Given the description of an element on the screen output the (x, y) to click on. 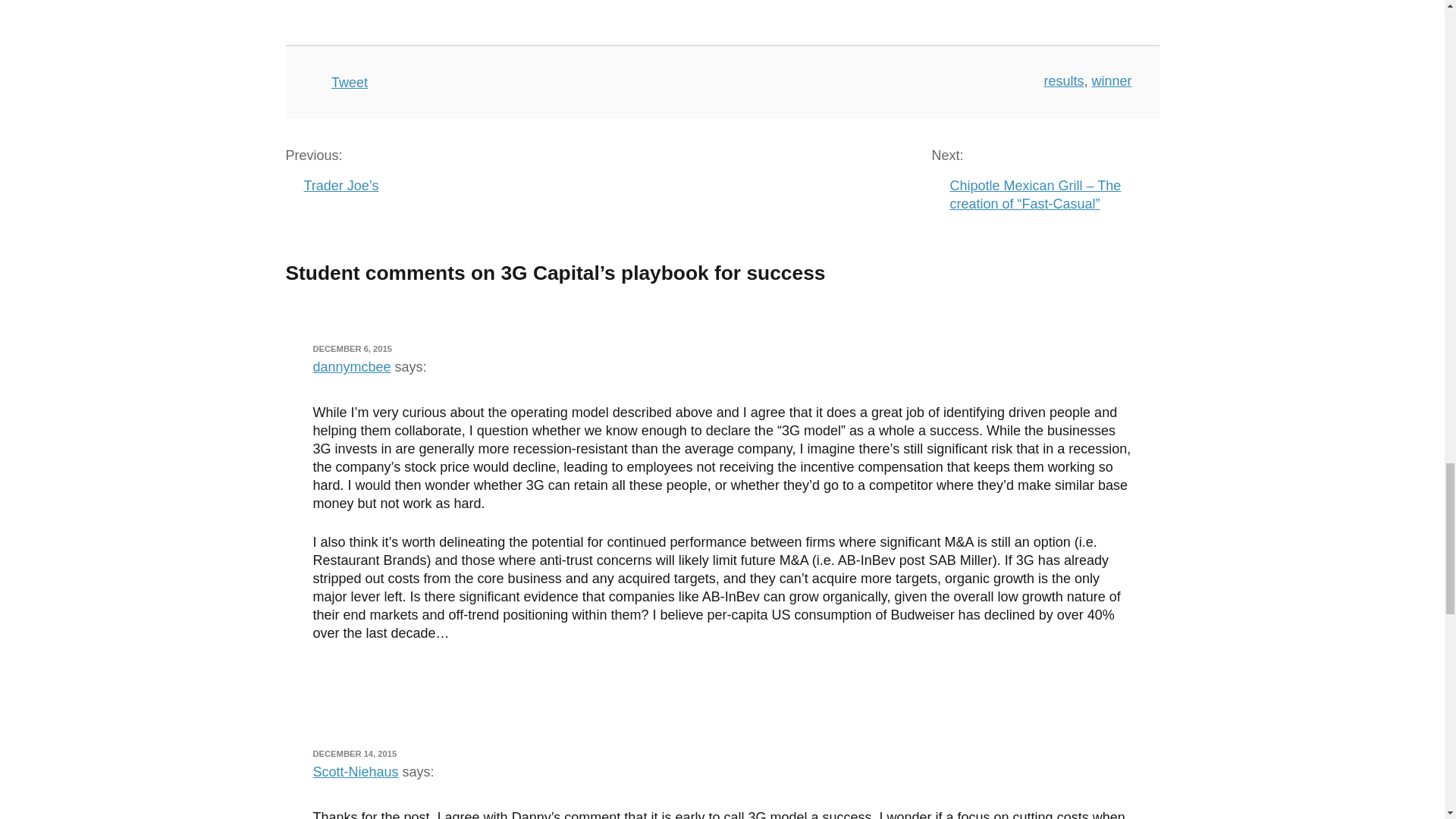
winner (1110, 80)
Tweet (349, 82)
results (1063, 80)
Scott-Niehaus (355, 771)
dannymcbee (351, 366)
